Given the description of an element on the screen output the (x, y) to click on. 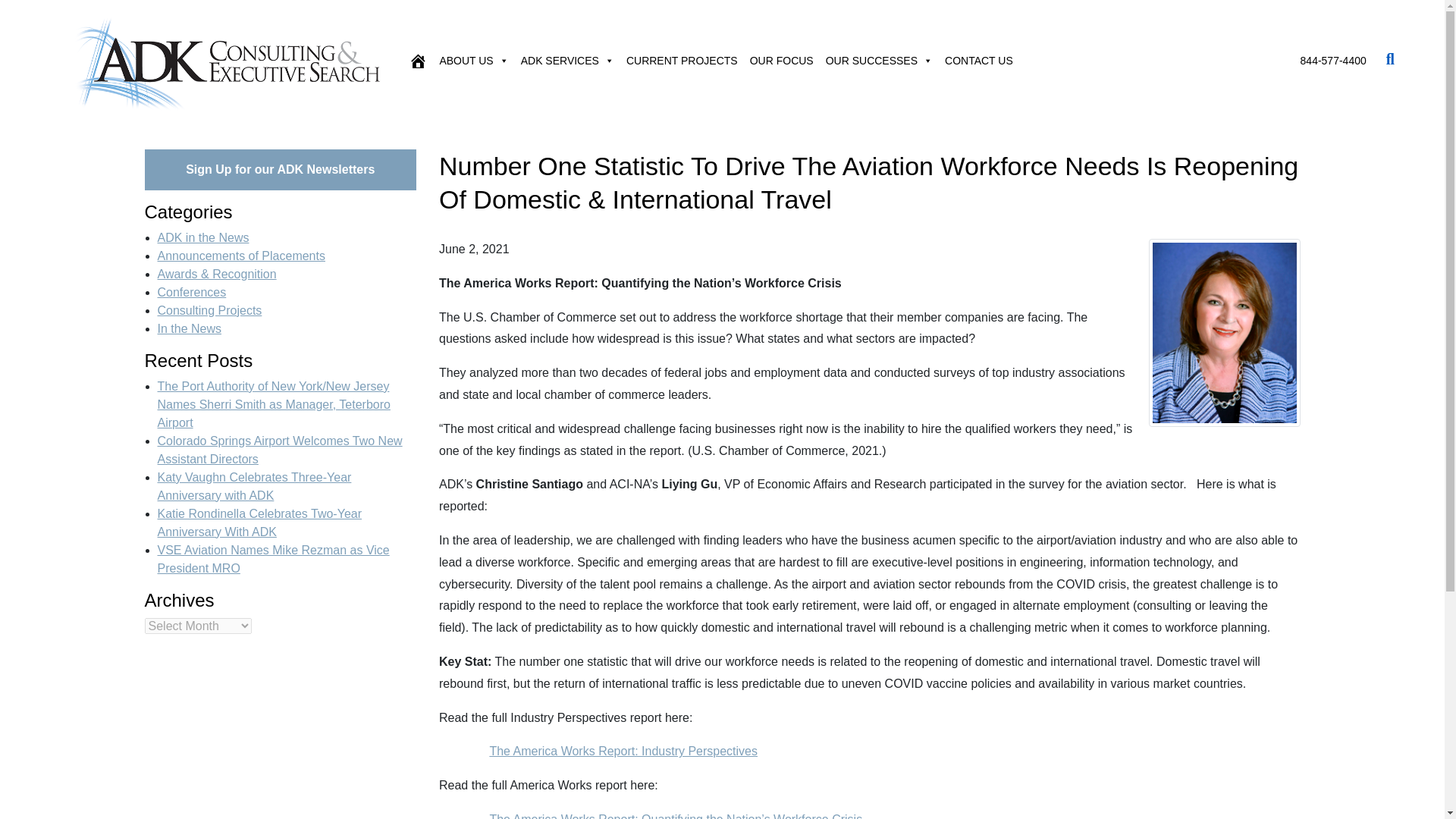
In the News (189, 328)
ADK in the News (202, 237)
OUR SUCCESSES (879, 60)
The America Works Report: Industry Perspectives (623, 750)
ABOUT US (472, 60)
CURRENT PROJECTS (682, 60)
CONTACT US (979, 60)
844-577-4400 (1333, 60)
Consulting Projects (209, 309)
